Given the description of an element on the screen output the (x, y) to click on. 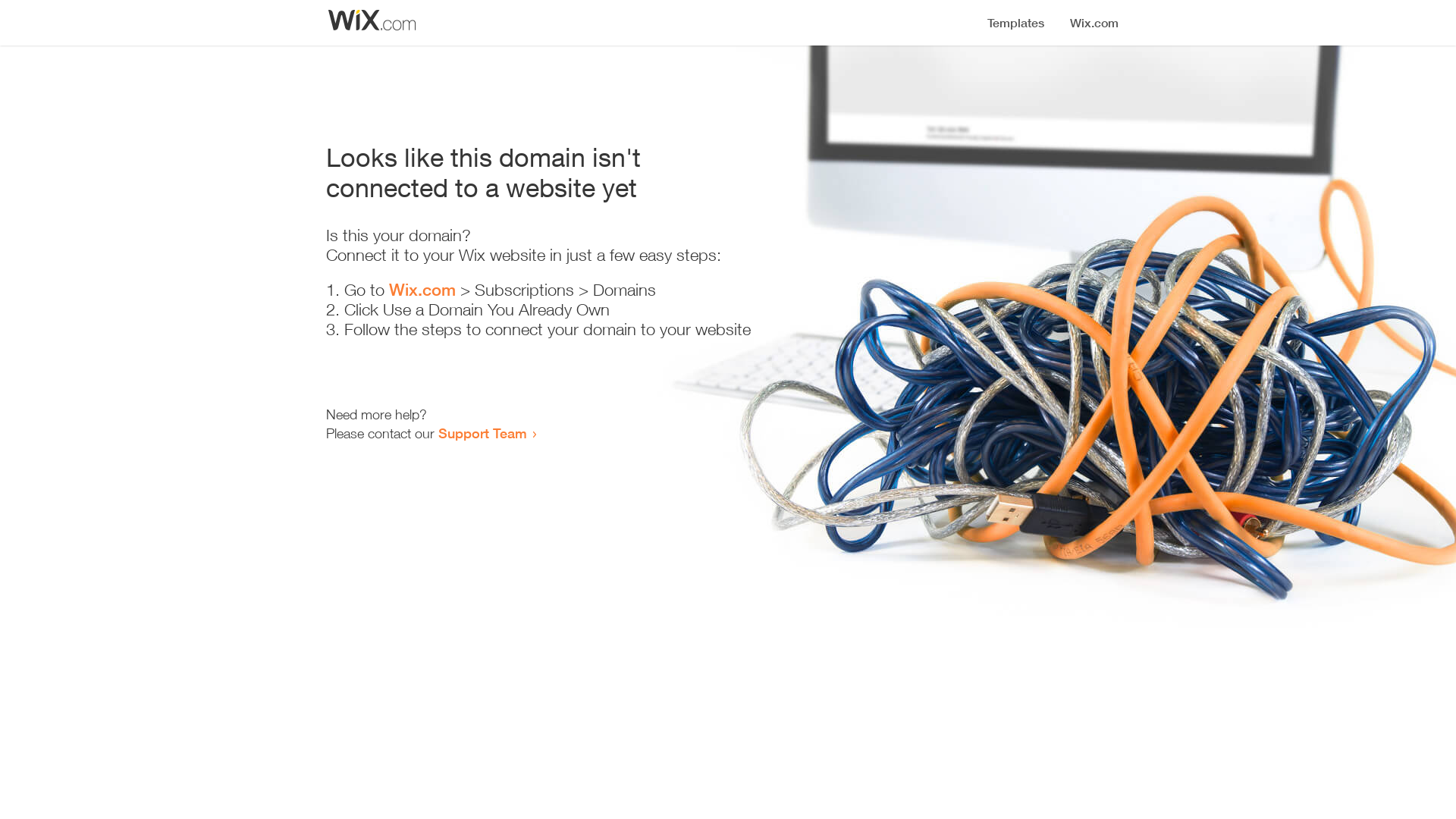
Support Team Element type: text (482, 432)
Wix.com Element type: text (422, 289)
